Given the description of an element on the screen output the (x, y) to click on. 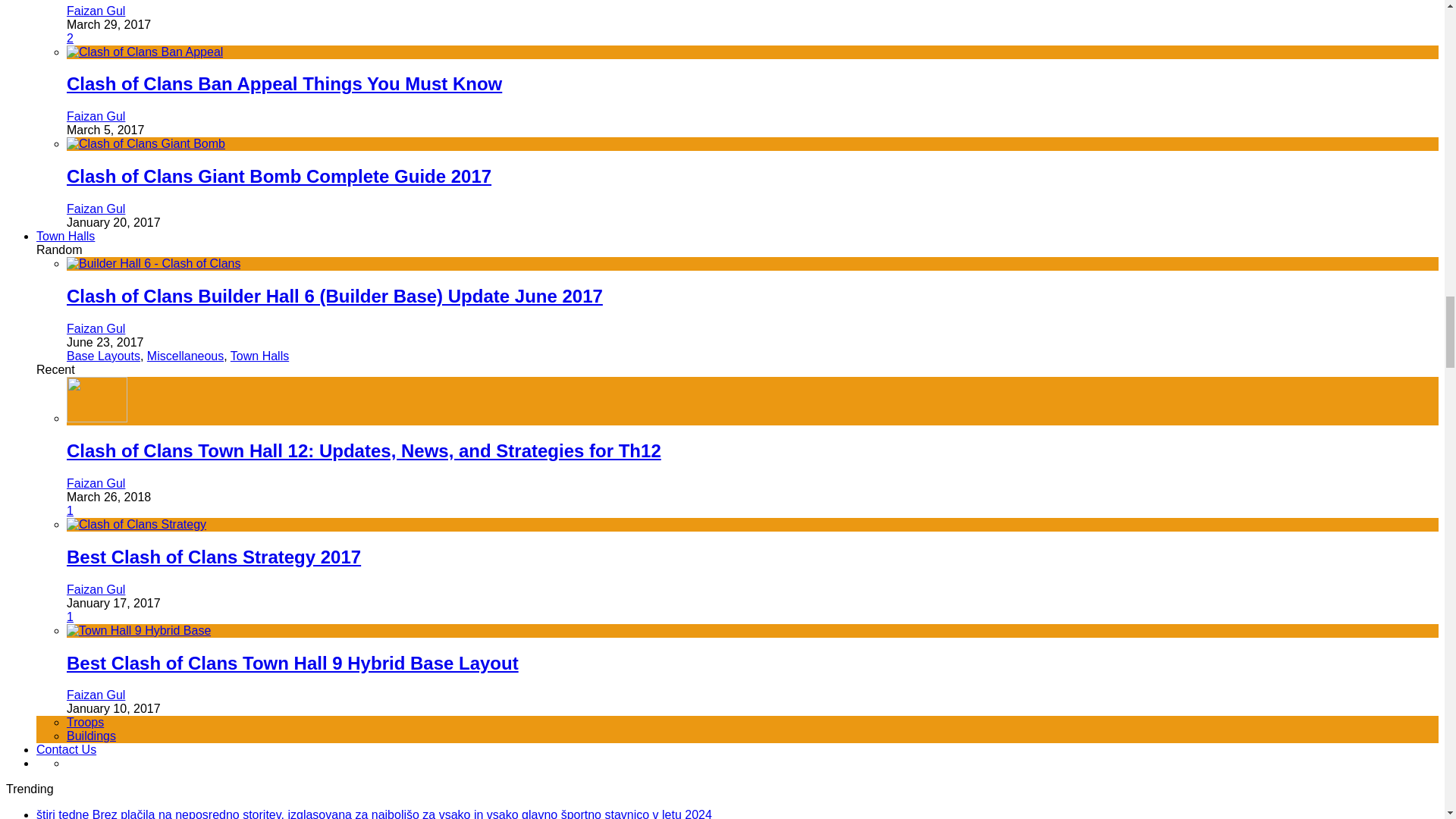
View all posts in Town Halls (259, 355)
View all posts in Miscellaneous (185, 355)
View all posts in Base Layouts (102, 355)
